Given the description of an element on the screen output the (x, y) to click on. 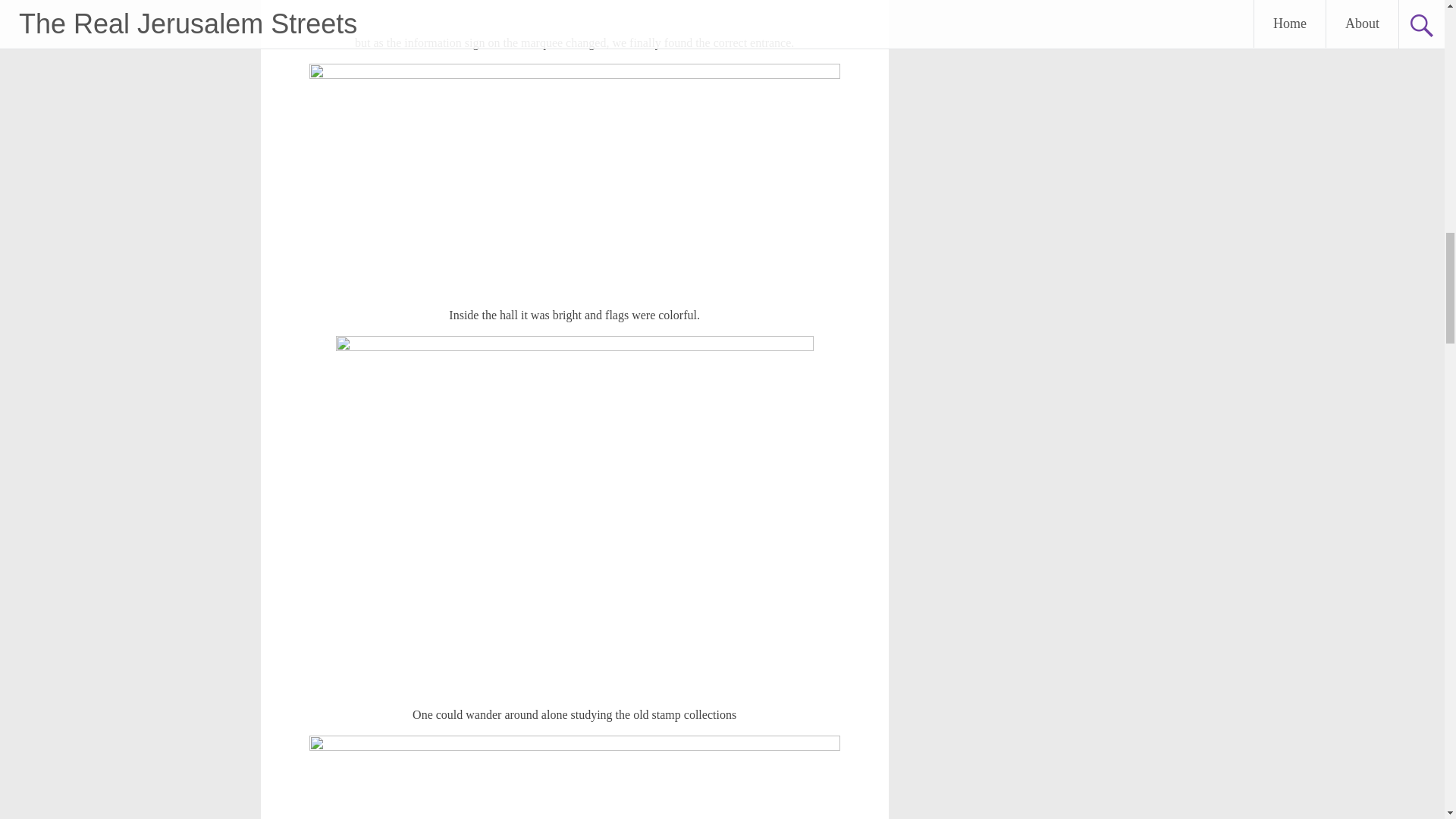
DSC03419 (574, 11)
DSC03422 (574, 777)
DSC03427 (574, 178)
